Given the description of an element on the screen output the (x, y) to click on. 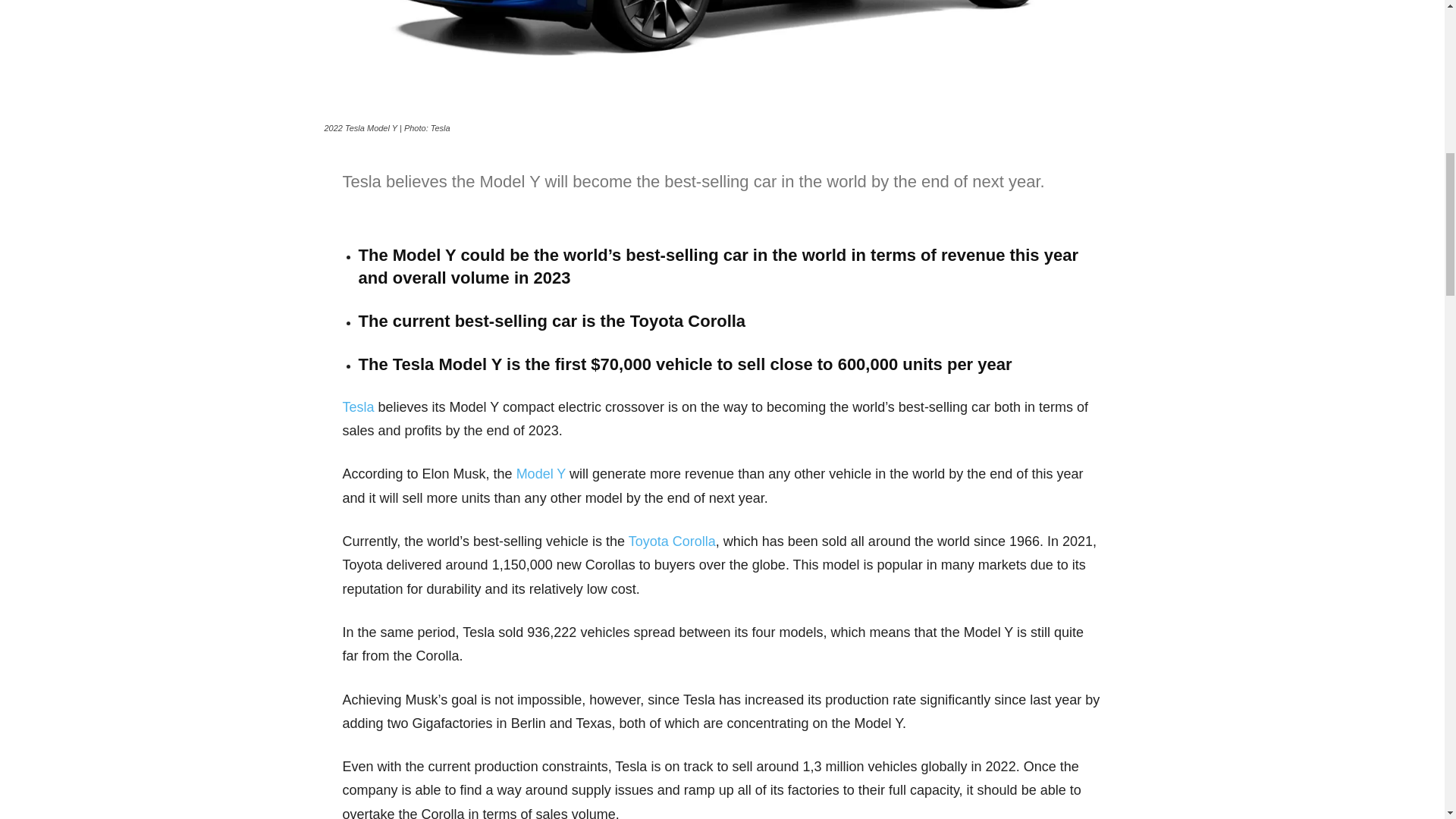
Screen Shot 2022-06-16 at 9.18.12 AM (722, 58)
